Given the description of an element on the screen output the (x, y) to click on. 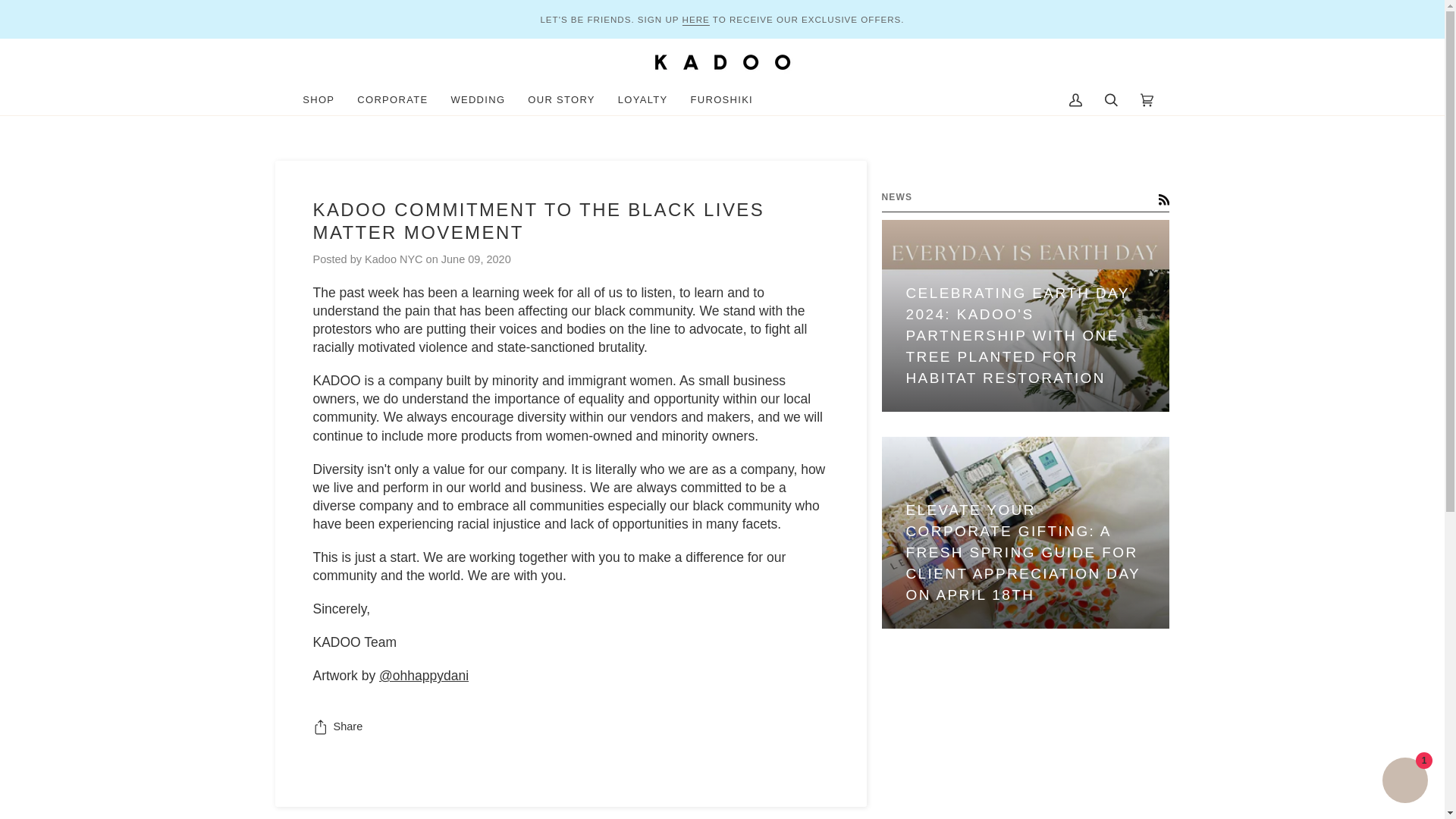
My Account (1075, 100)
HERE (696, 18)
CORPORATE (392, 100)
SHOP (318, 100)
Search (1111, 100)
KADOO Black Lives Matter artwrok credit by Oh Happy Dani  (423, 675)
OUR STORY (561, 100)
FUROSHIKI (721, 100)
WEDDING (477, 100)
KADOO KLAVIYO SIGN UP (696, 18)
LOYALTY (643, 100)
